Given the description of an element on the screen output the (x, y) to click on. 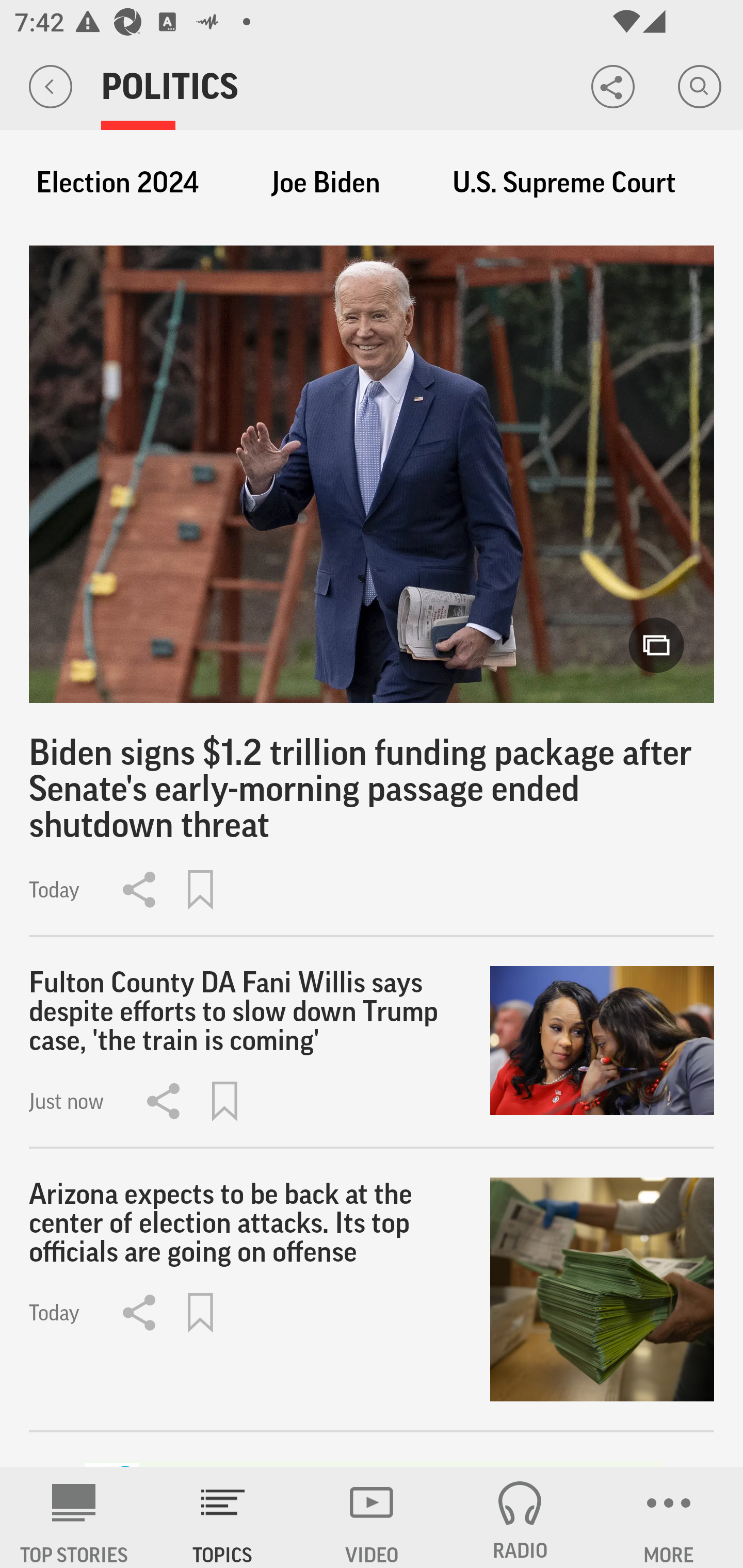
Election 2024 (116, 182)
Joe Biden (325, 182)
U.S. Supreme Court (564, 182)
AP News TOP STORIES (74, 1517)
TOPICS (222, 1517)
VIDEO (371, 1517)
RADIO (519, 1517)
MORE (668, 1517)
